Given the description of an element on the screen output the (x, y) to click on. 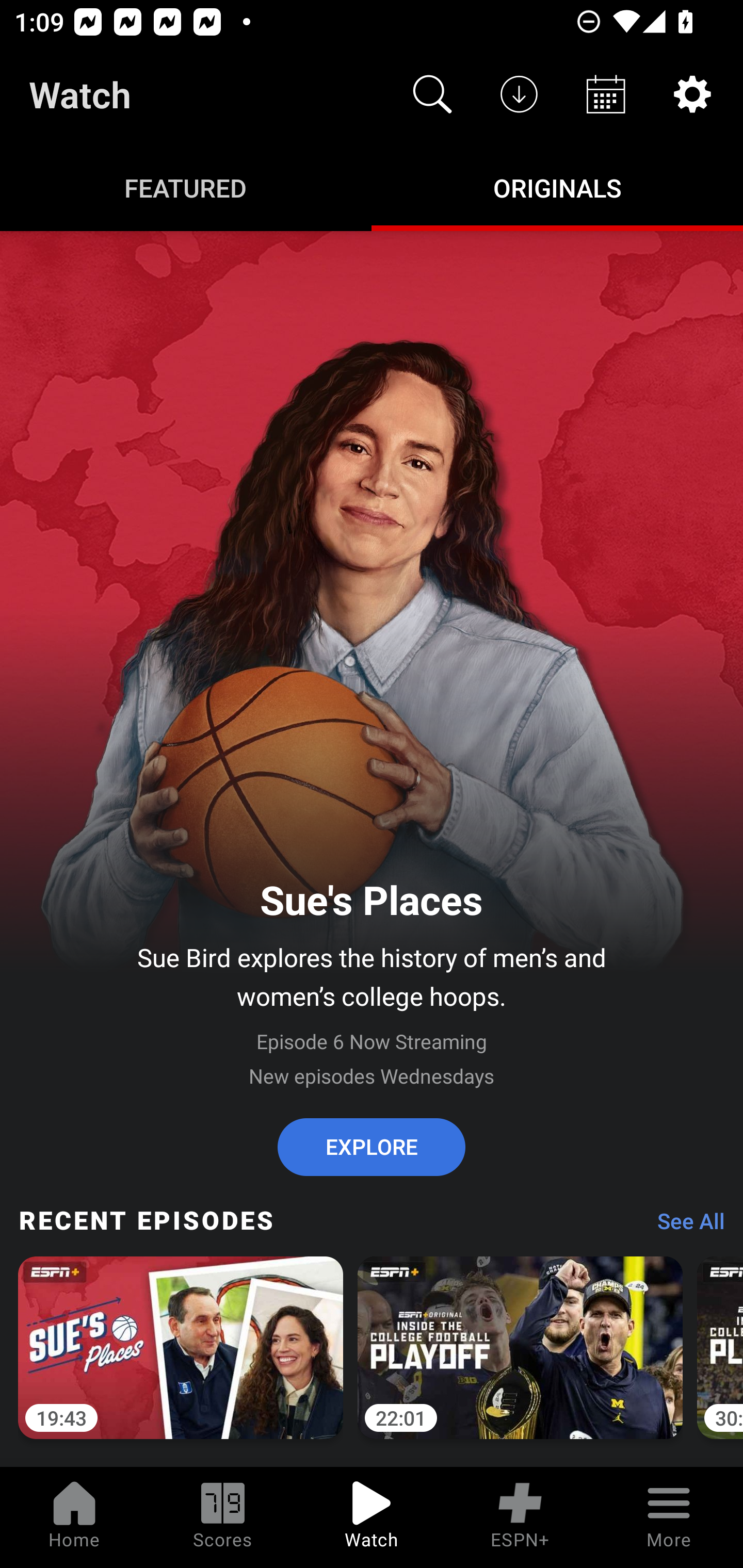
Search (432, 93)
Downloads (518, 93)
Schedule (605, 93)
Settings (692, 93)
Featured FEATURED (185, 187)
EXPLORE (371, 1146)
See All (683, 1225)
Home (74, 1517)
Scores (222, 1517)
ESPN+ (519, 1517)
More (668, 1517)
